Given the description of an element on the screen output the (x, y) to click on. 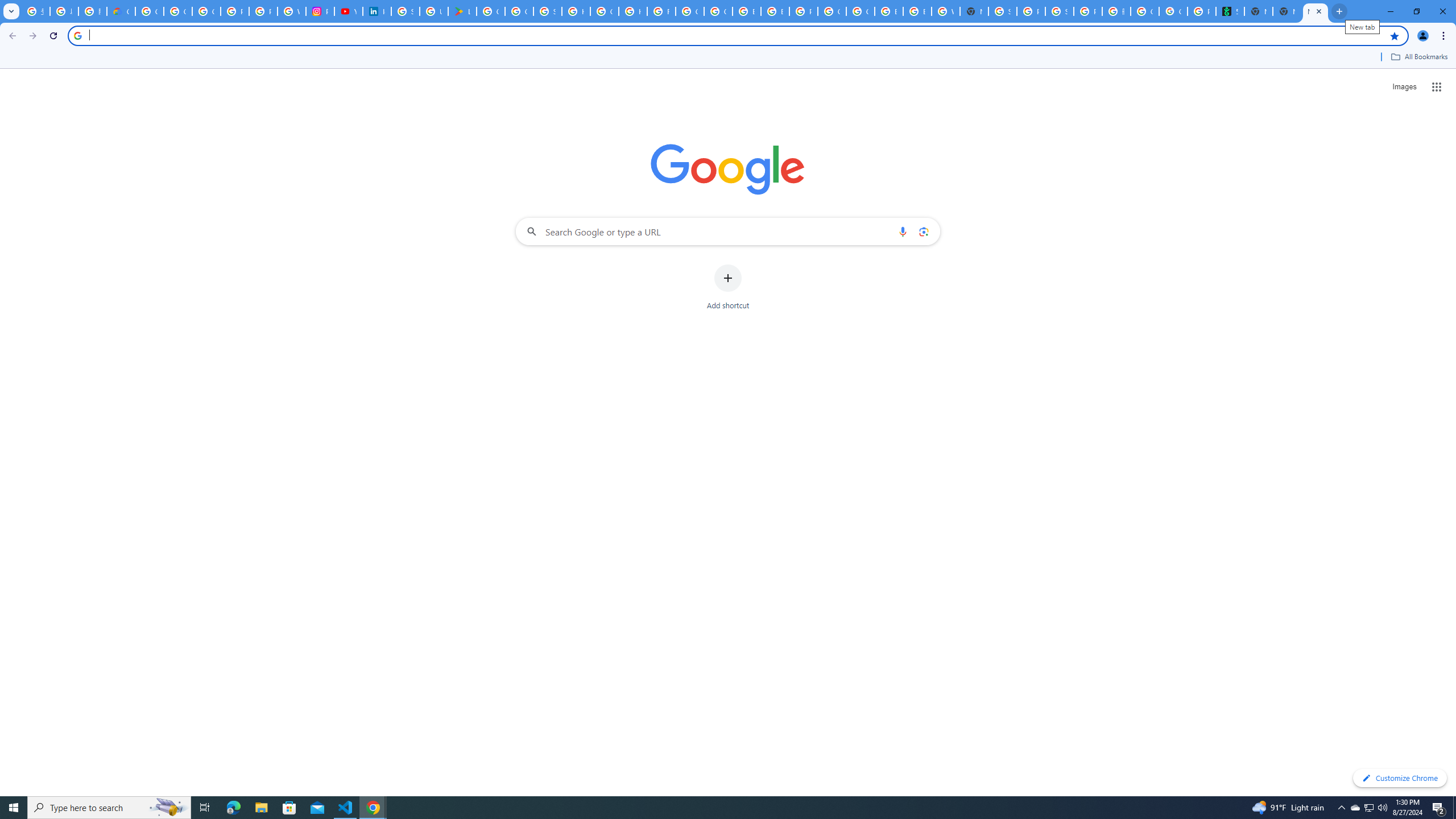
Browse Chrome as a guest - Computer - Google Chrome Help (888, 11)
